Given the description of an element on the screen output the (x, y) to click on. 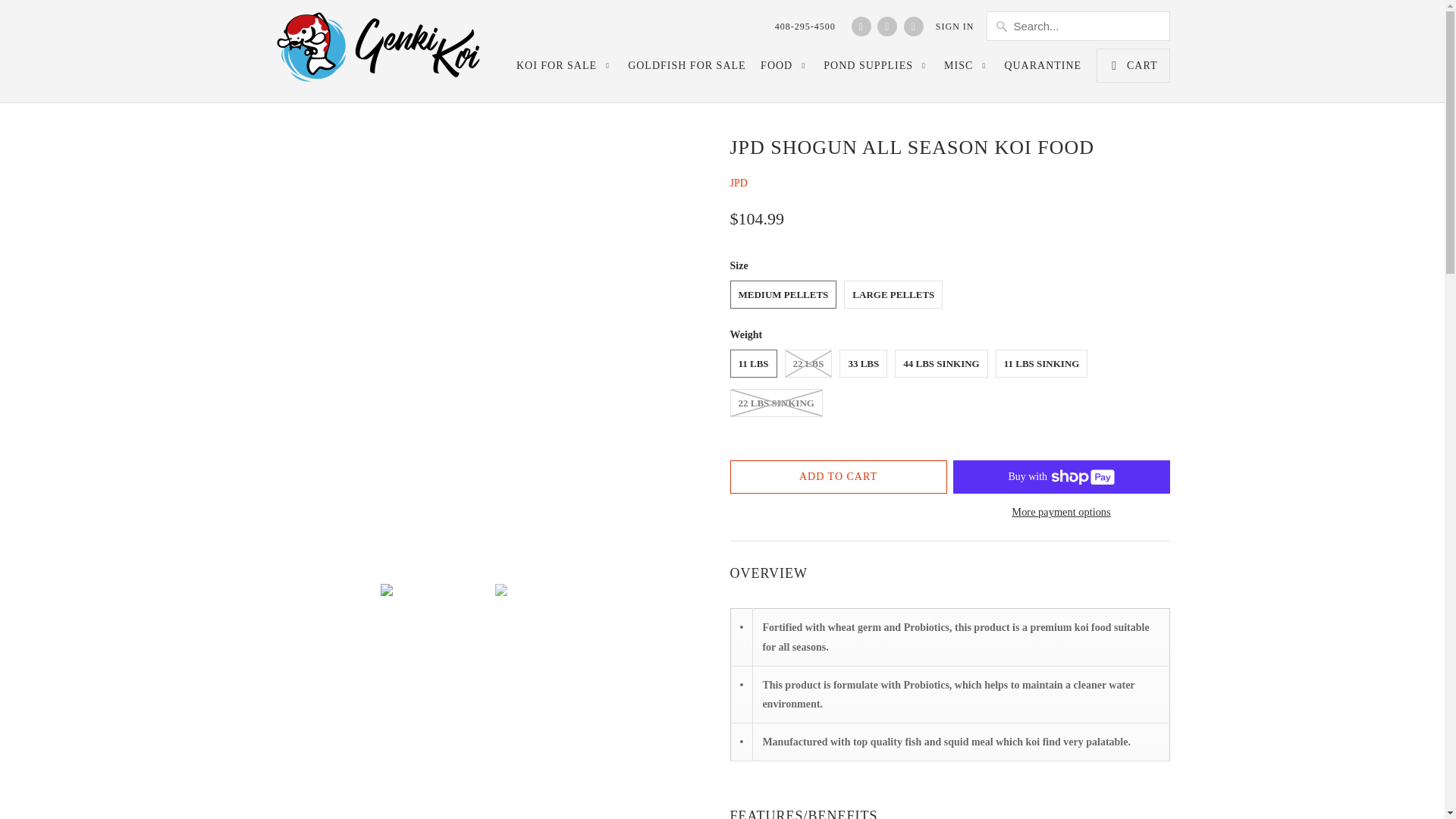
SIGN IN (955, 26)
Cart (1133, 65)
Genkikoi on Instagram (886, 26)
Genkikoi on Facebook (860, 26)
408-295-4500 (804, 26)
Email Genkikoi (913, 26)
KOI FOR SALE (564, 69)
JPD (737, 183)
Genkikoi (380, 50)
